Given the description of an element on the screen output the (x, y) to click on. 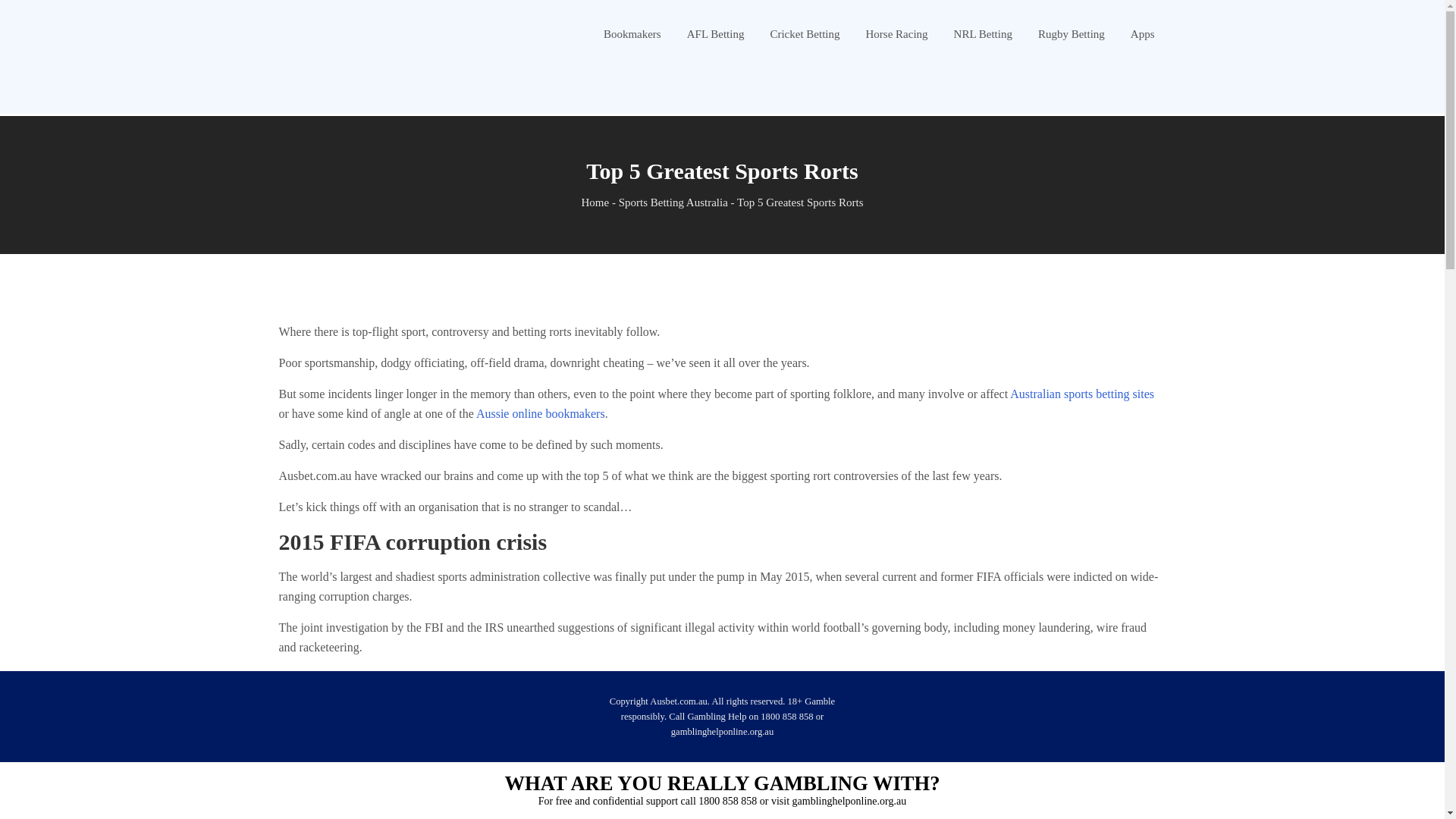
Rugby Betting (1071, 33)
Australian sports betting sites (1082, 393)
Cricket Betting (805, 33)
Aussie Online Bookies (540, 413)
Horse Racing (895, 33)
